Given the description of an element on the screen output the (x, y) to click on. 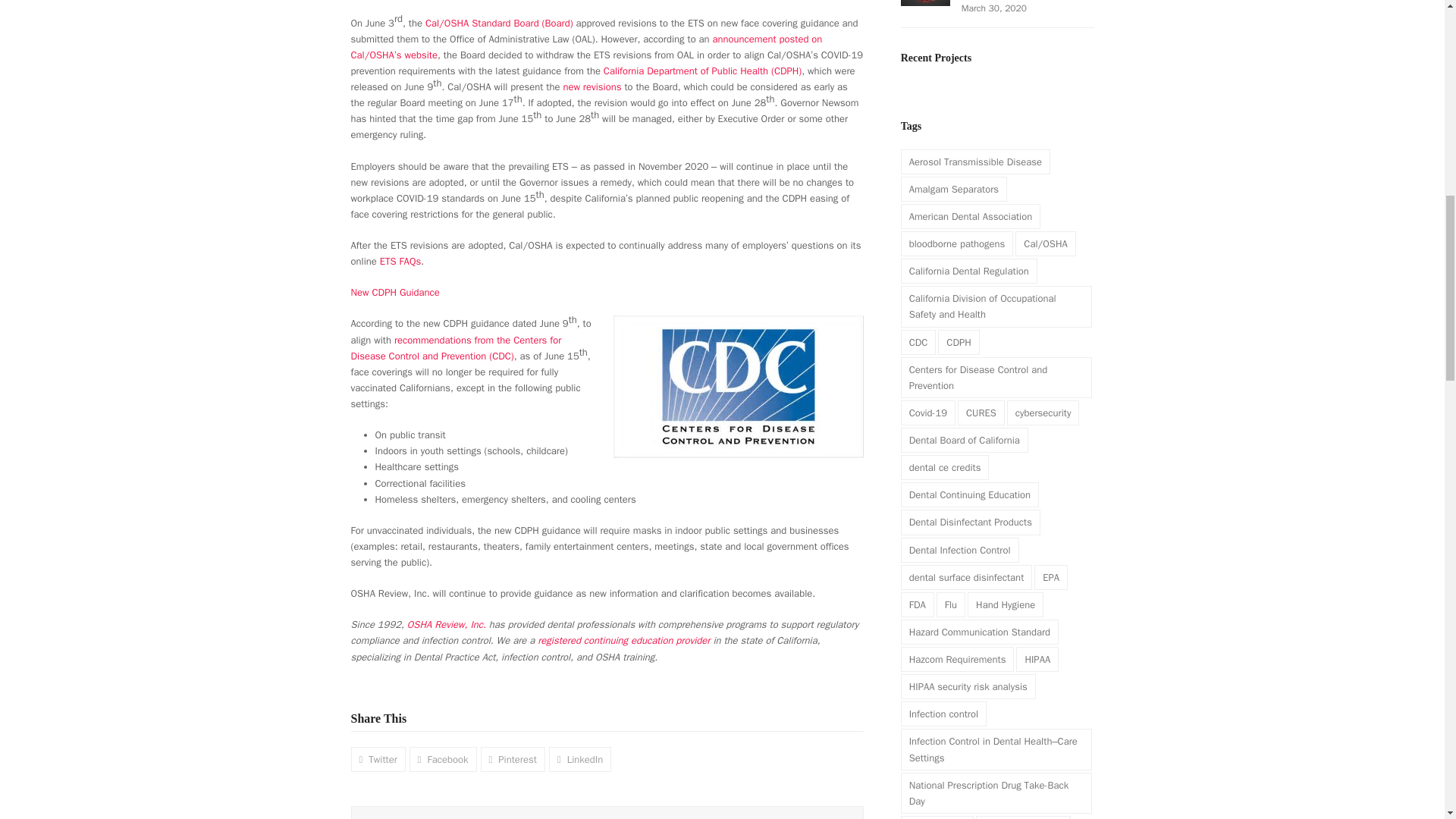
new revisions (591, 86)
LinkedIn (579, 759)
Pinterest (512, 759)
OSHA Review, Inc. (446, 624)
Facebook (443, 759)
Twitter (377, 759)
New CDPH Guidance (394, 291)
ETS FAQs (401, 260)
registered continuing education provider (623, 640)
